Given the description of an element on the screen output the (x, y) to click on. 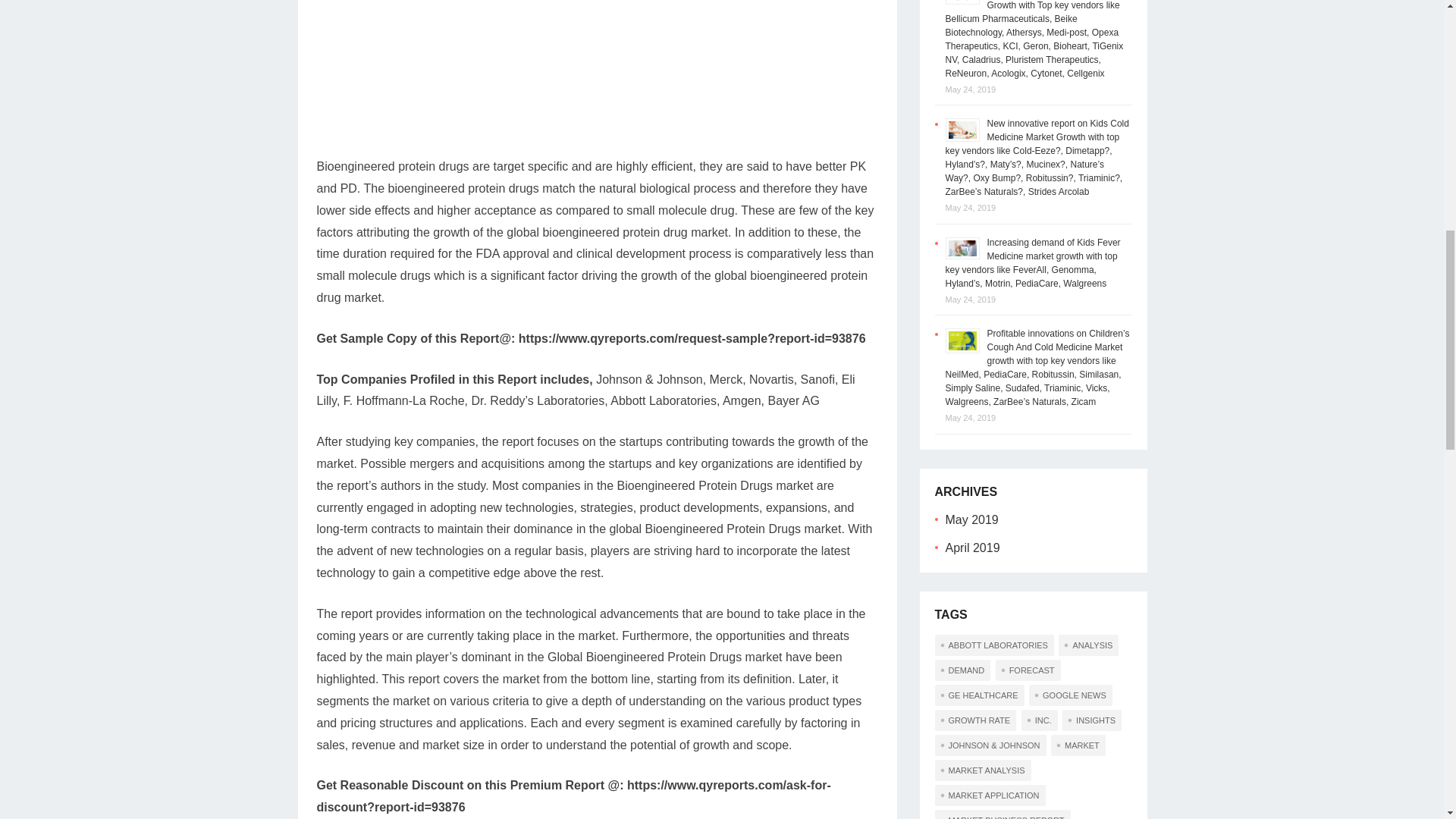
ABBOTT LABORATORIES (993, 645)
May 2019 (970, 519)
ANALYSIS (1088, 645)
April 2019 (971, 547)
